Given the description of an element on the screen output the (x, y) to click on. 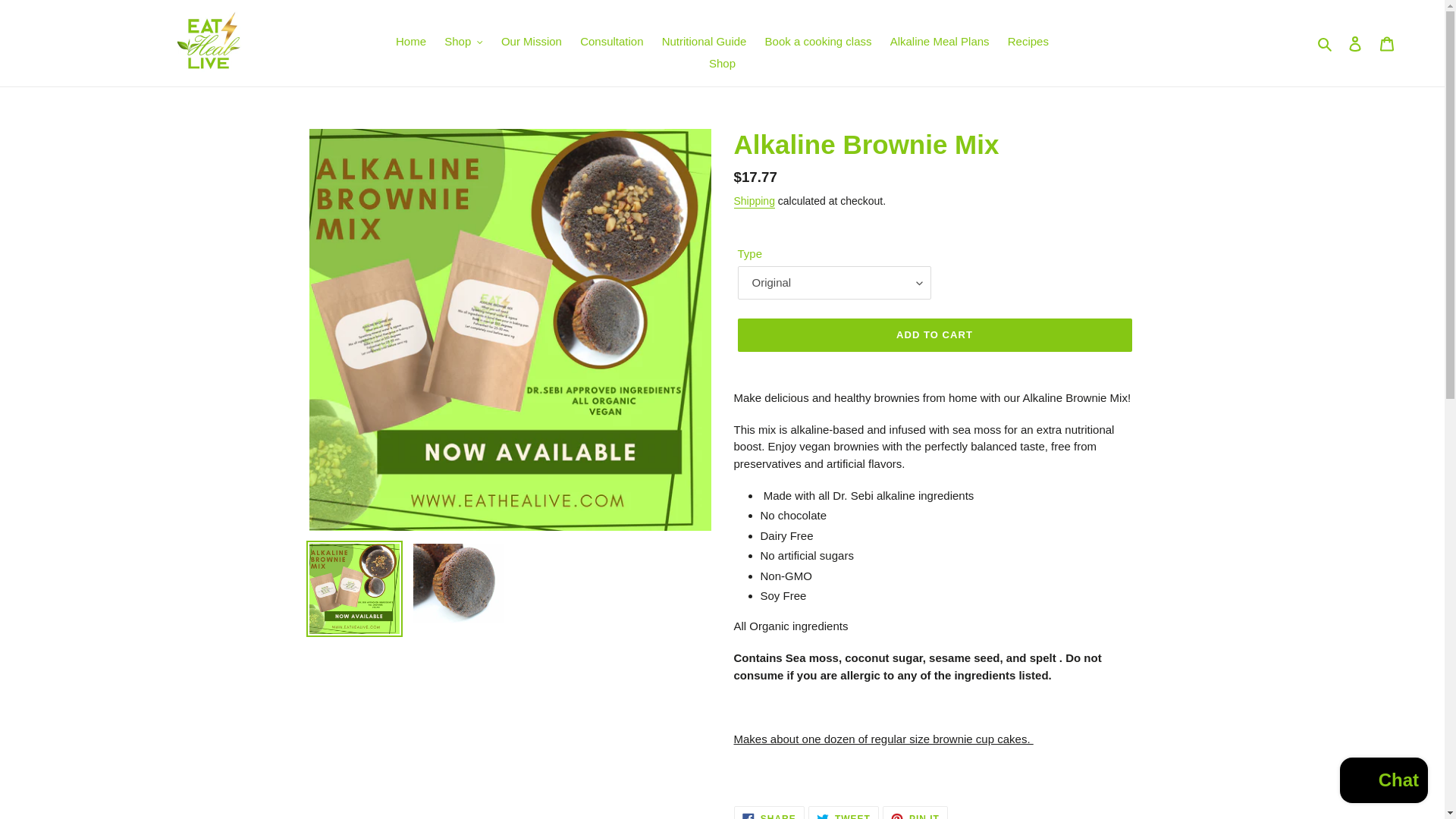
Home (410, 42)
Book a cooking class (818, 42)
Shop (463, 42)
Cart (1387, 43)
Recipes (1028, 42)
Log in (1355, 43)
Search (1326, 43)
Shopify online store chat (1383, 781)
Alkaline Meal Plans (939, 42)
Shop (721, 64)
Nutritional Guide (703, 42)
Our Mission (531, 42)
Consultation (611, 42)
